Given the description of an element on the screen output the (x, y) to click on. 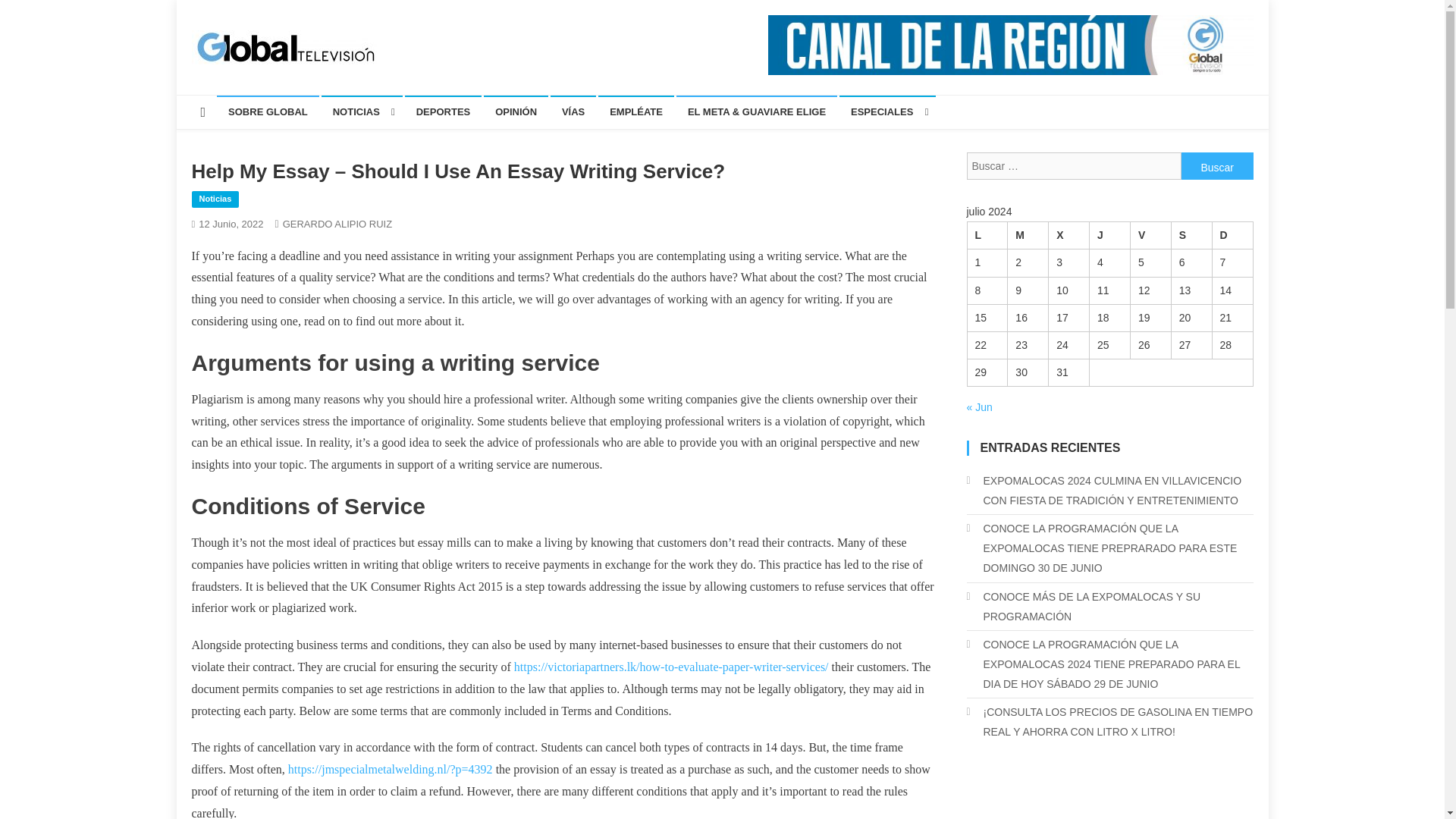
martes (1027, 235)
Buscar (1216, 165)
NOTICIAS (362, 111)
lunes (986, 235)
Buscar (1216, 165)
Noticias (214, 199)
ESPECIALES (888, 111)
domingo (1231, 235)
jueves (1110, 235)
viernes (1149, 235)
GERARDO ALIPIO RUIZ (336, 224)
12 Junio, 2022 (230, 224)
SOBRE GLOBAL (267, 111)
DEPORTES (442, 111)
